Given the description of an element on the screen output the (x, y) to click on. 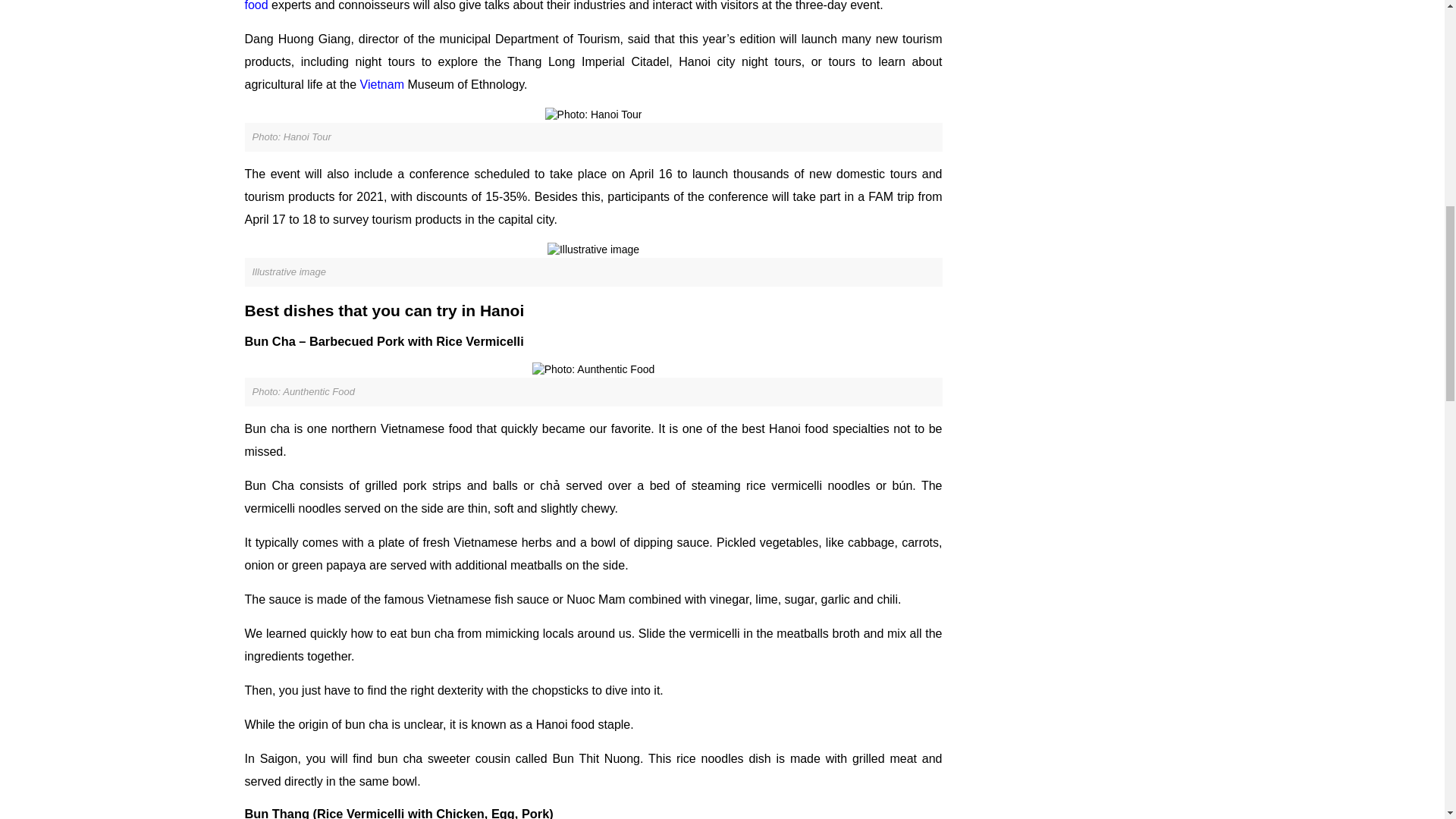
Photo: Aunthentic Food  (593, 369)
Vietnam (383, 83)
Photo: Hanoi Tour (593, 114)
Illustrative image  (593, 249)
food (255, 5)
